Given the description of an element on the screen output the (x, y) to click on. 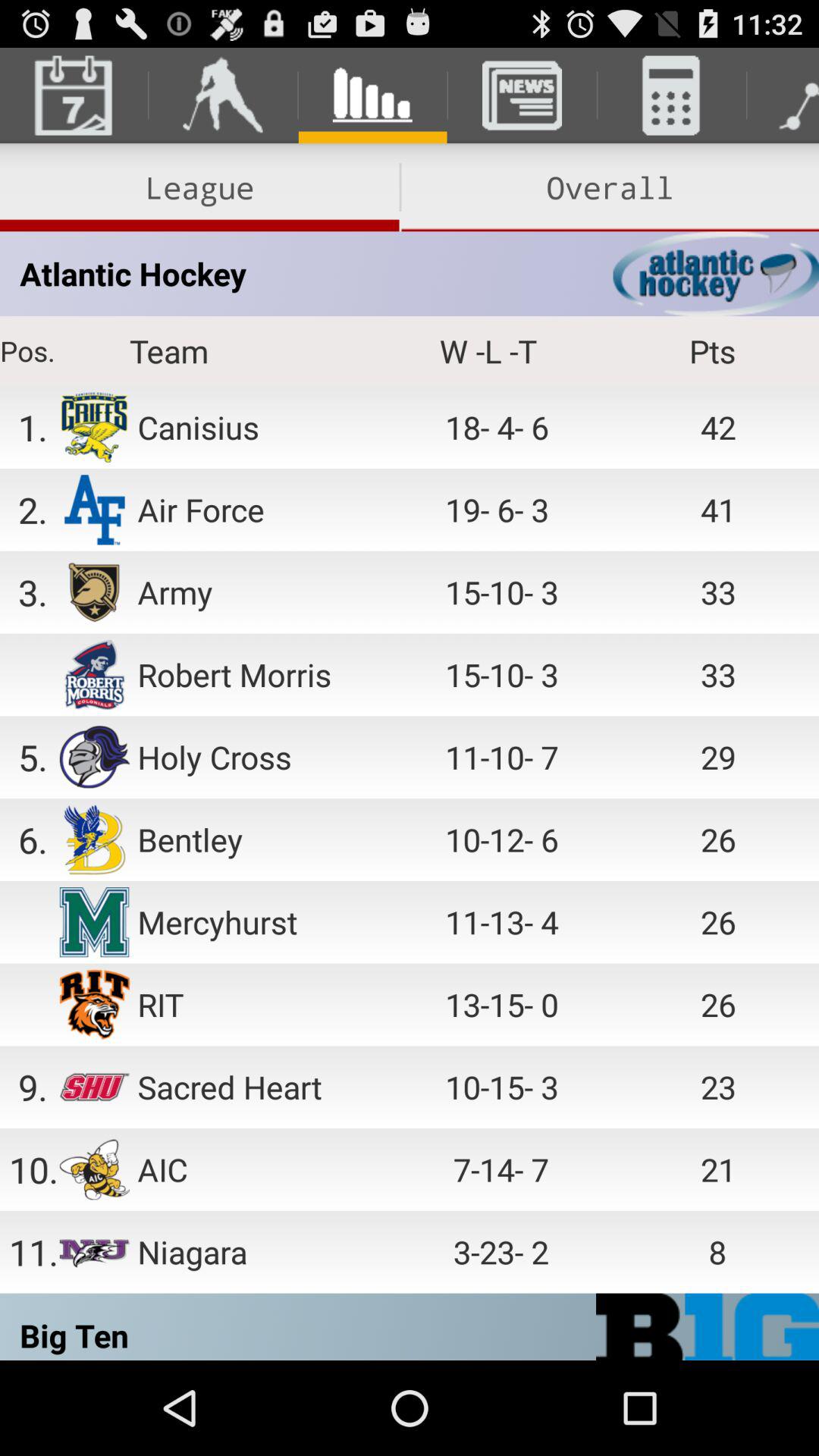
open the item to the left of overall item (199, 187)
